Given the description of an element on the screen output the (x, y) to click on. 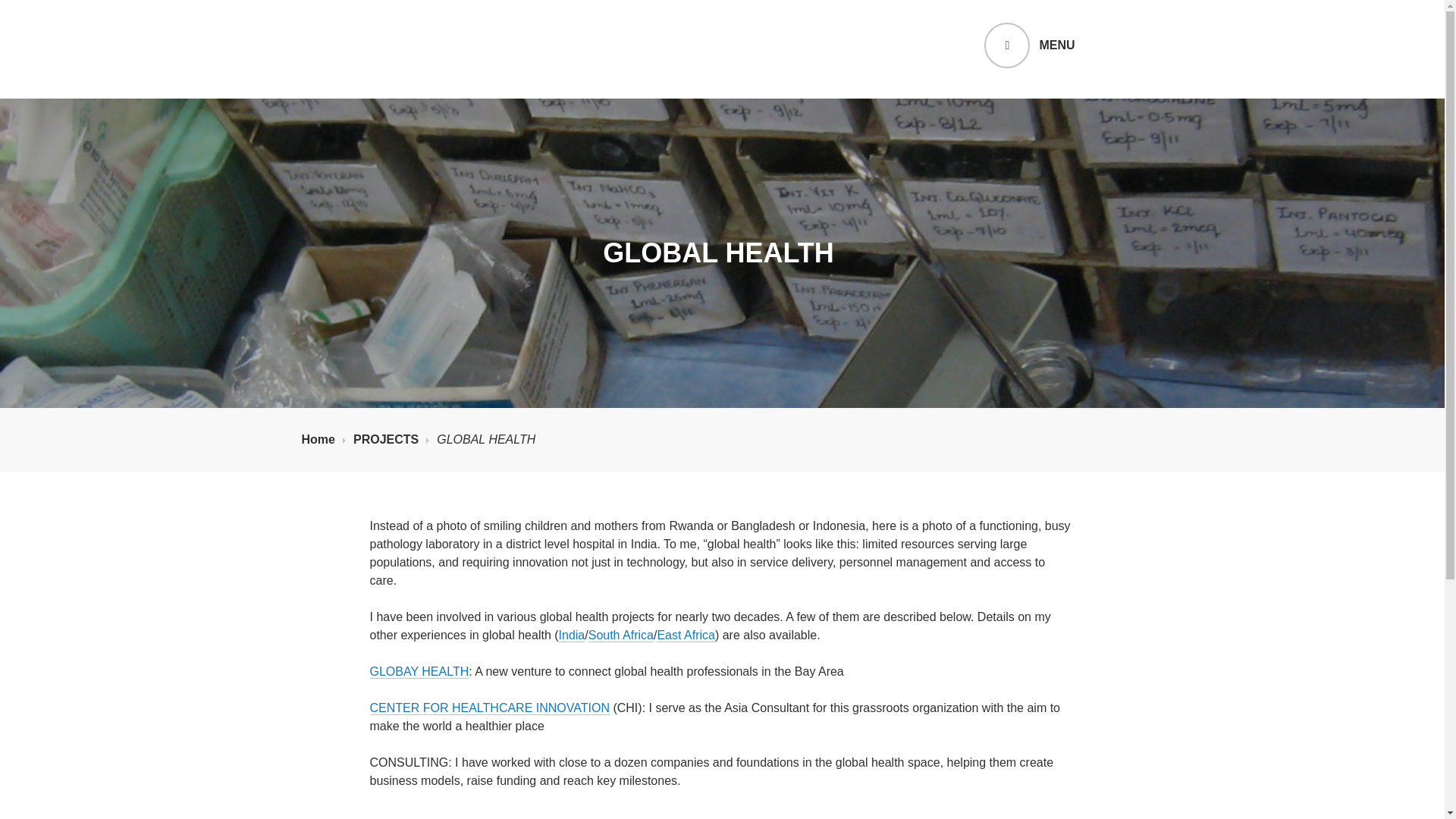
South Africa (620, 635)
India (572, 635)
MENU (1029, 44)
GLOBAY HEALTH (418, 671)
East Africa (685, 635)
PROJECTS (391, 439)
CENTER FOR HEALTHCARE INNOVATION (489, 707)
Home (323, 439)
